Given the description of an element on the screen output the (x, y) to click on. 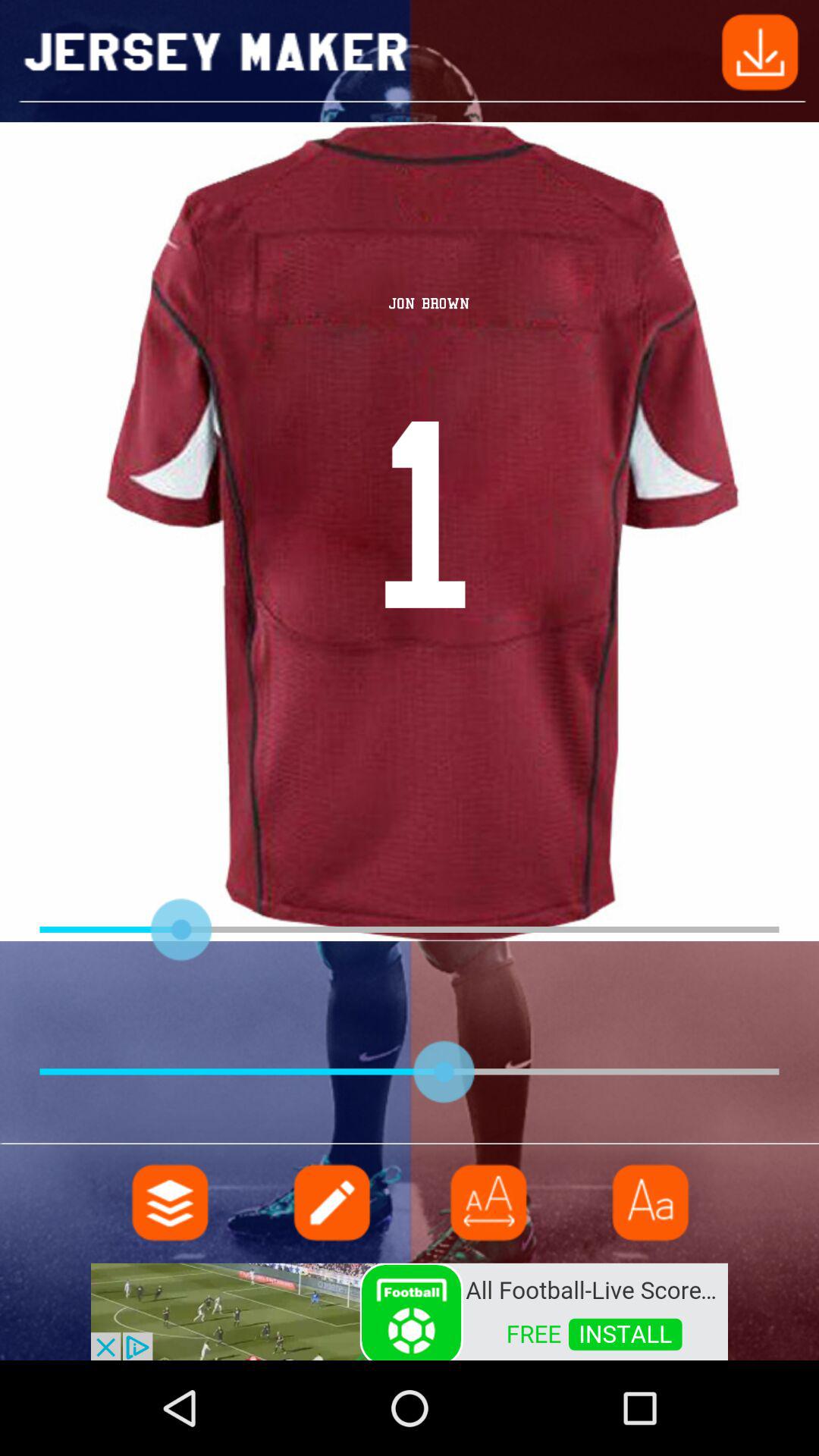
go back (759, 50)
